Given the description of an element on the screen output the (x, y) to click on. 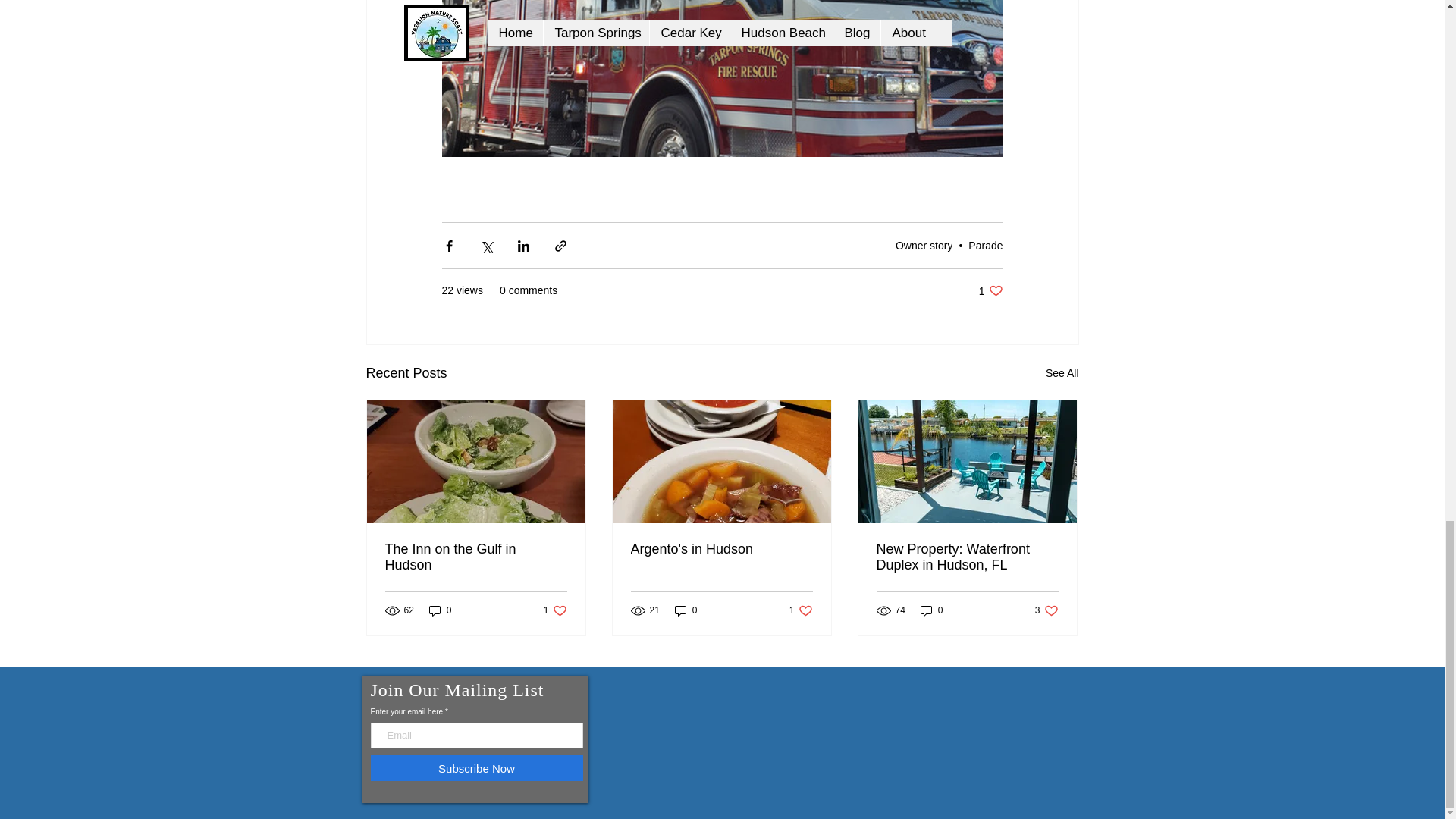
The Inn on the Gulf in Hudson (476, 557)
Parade (990, 290)
Owner story (985, 244)
See All (923, 244)
